Given the description of an element on the screen output the (x, y) to click on. 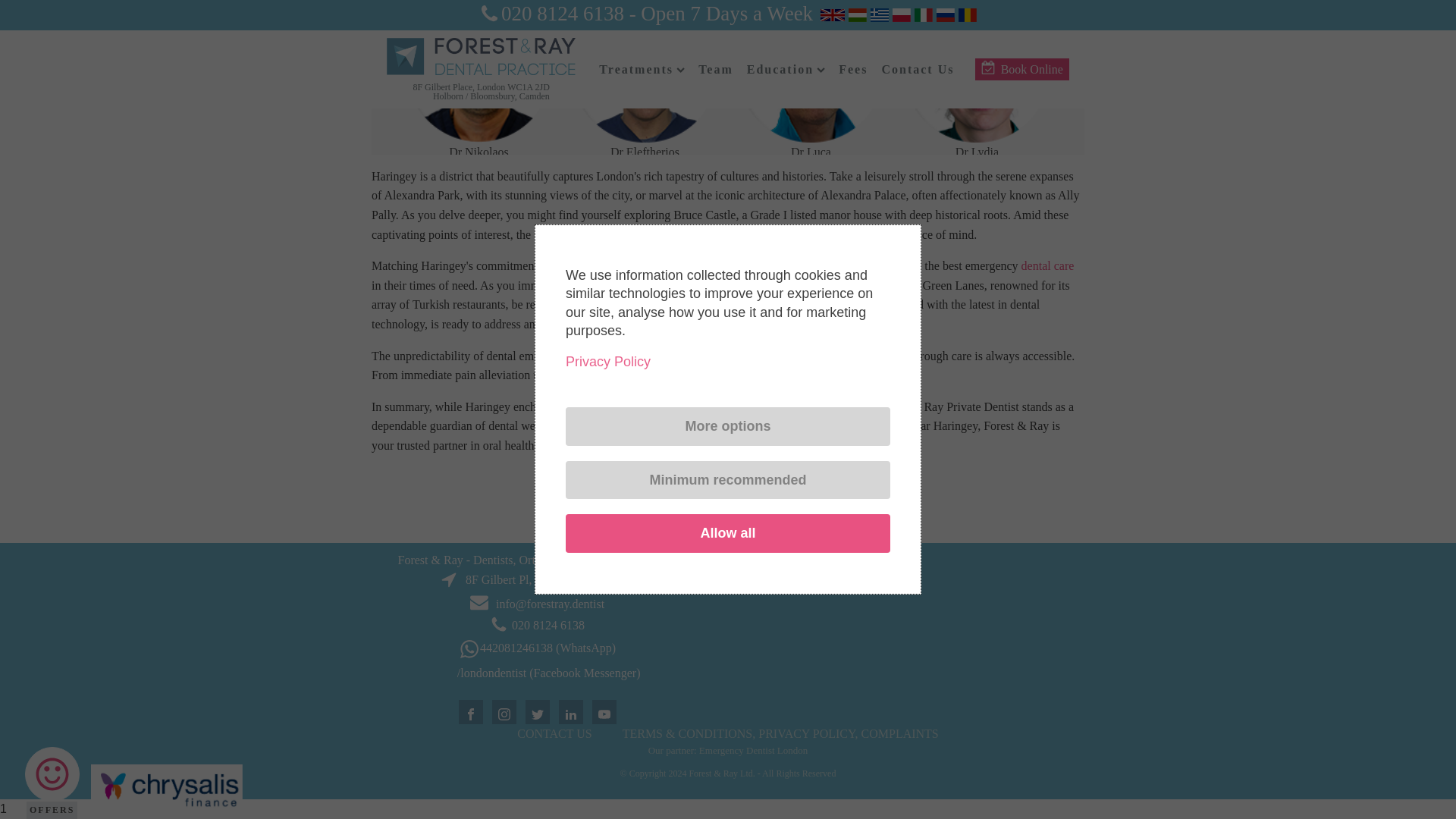
Visit our YouTube channel (604, 714)
Visit our Twitter (537, 714)
Visit our Facebook (470, 714)
Visit our LinkedIn (570, 714)
Visit our Instagram (504, 714)
